Given the description of an element on the screen output the (x, y) to click on. 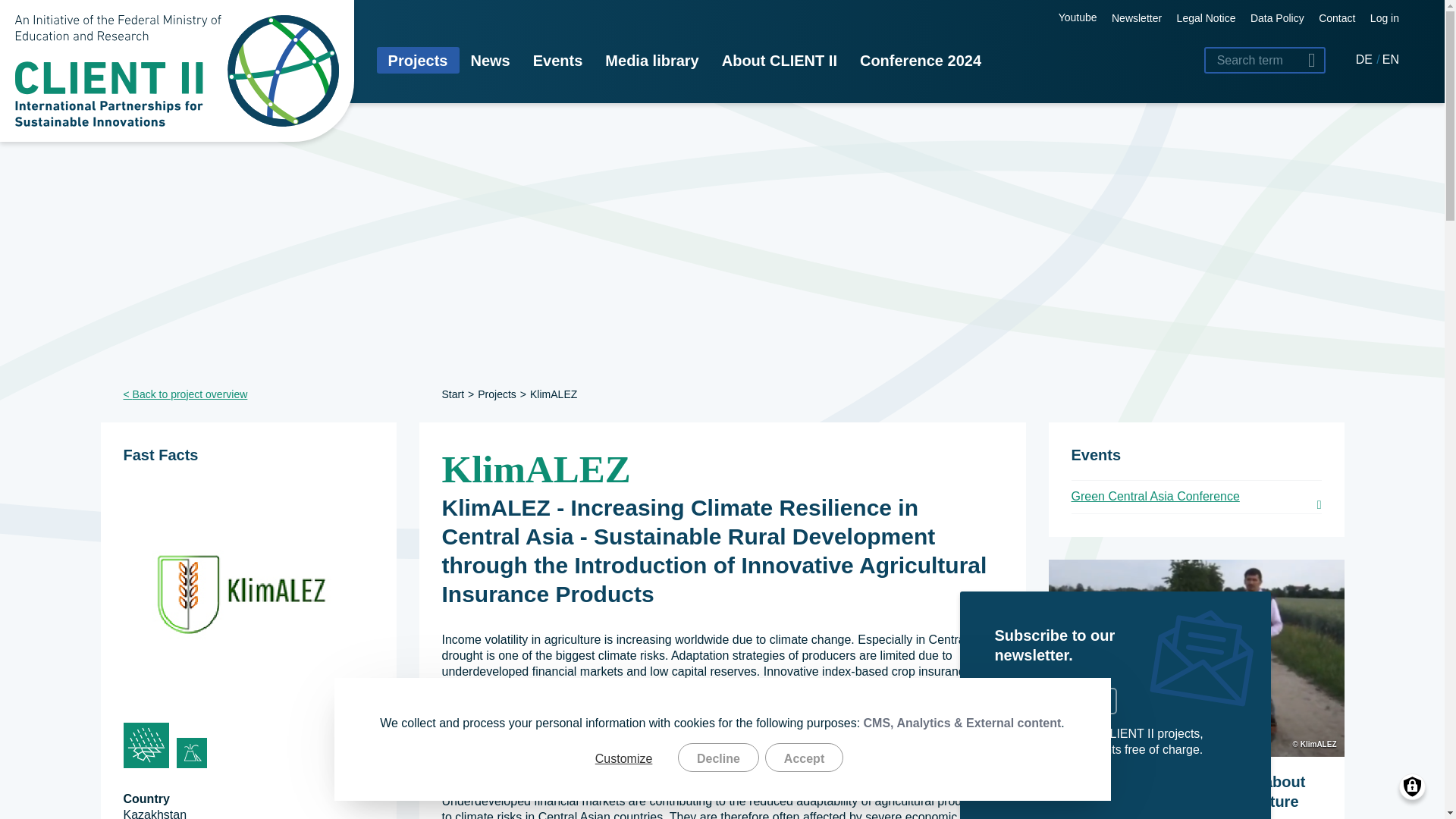
Client II Landing Page (176, 70)
Back to project overview (247, 394)
Natural hazards (191, 752)
About CLIENT II (779, 59)
EN (1390, 59)
English (1390, 59)
Adaptation to climate change (145, 745)
Data Policy (1277, 18)
Newsletter Registrierung (1136, 18)
Log in (1384, 18)
Youtube (1058, 17)
Newsletter (1136, 18)
Legal Notice (1206, 18)
DE (1365, 59)
Enter the term you wish to search for. (1264, 59)
